Given the description of an element on the screen output the (x, y) to click on. 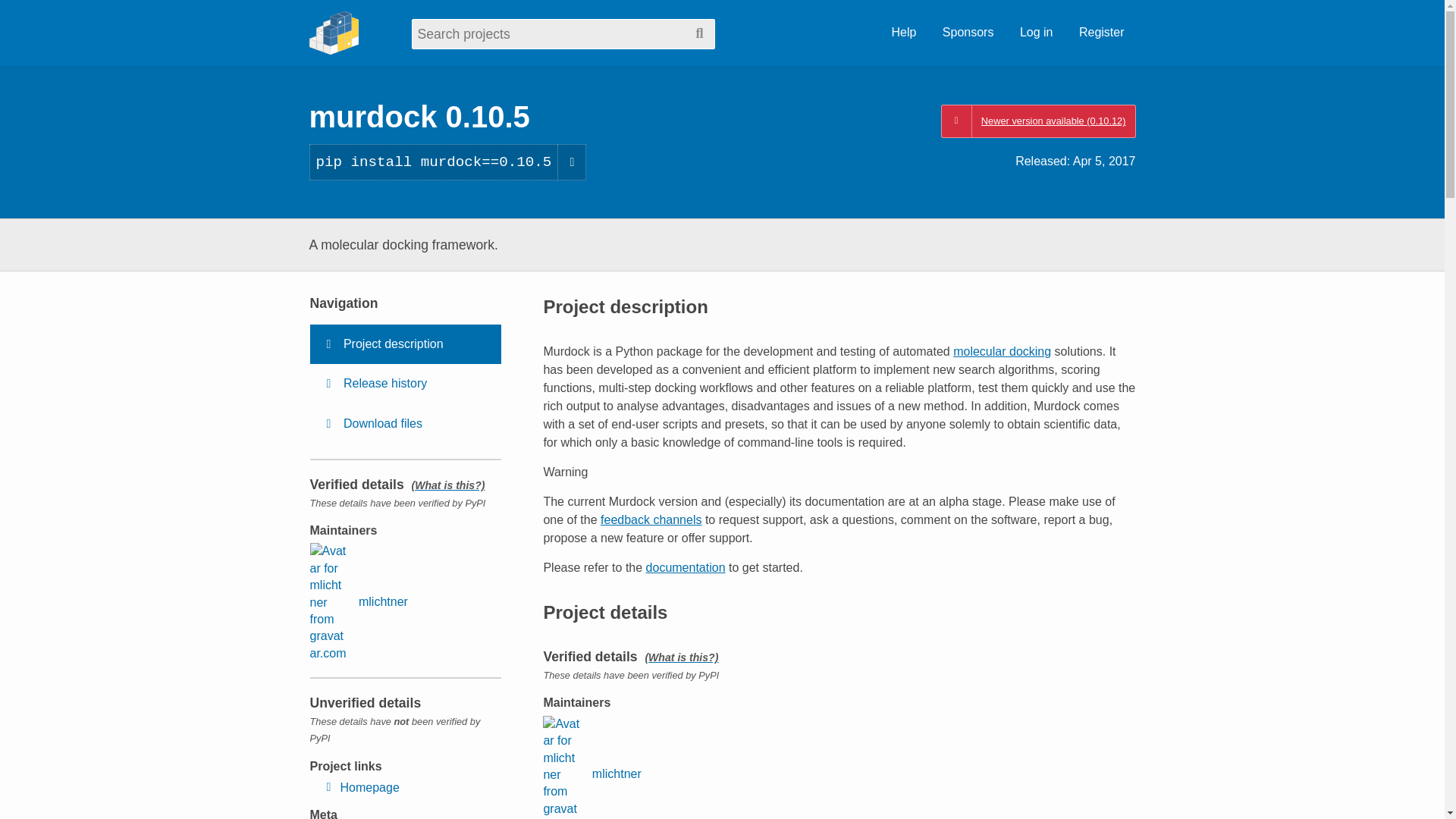
Sponsors (968, 32)
feedback channels (650, 519)
documentation (685, 567)
Register (1101, 32)
Release history (404, 383)
Homepage (359, 786)
mlichtner (591, 767)
Download files (404, 423)
molecular docking (1002, 350)
Search (699, 33)
